Given the description of an element on the screen output the (x, y) to click on. 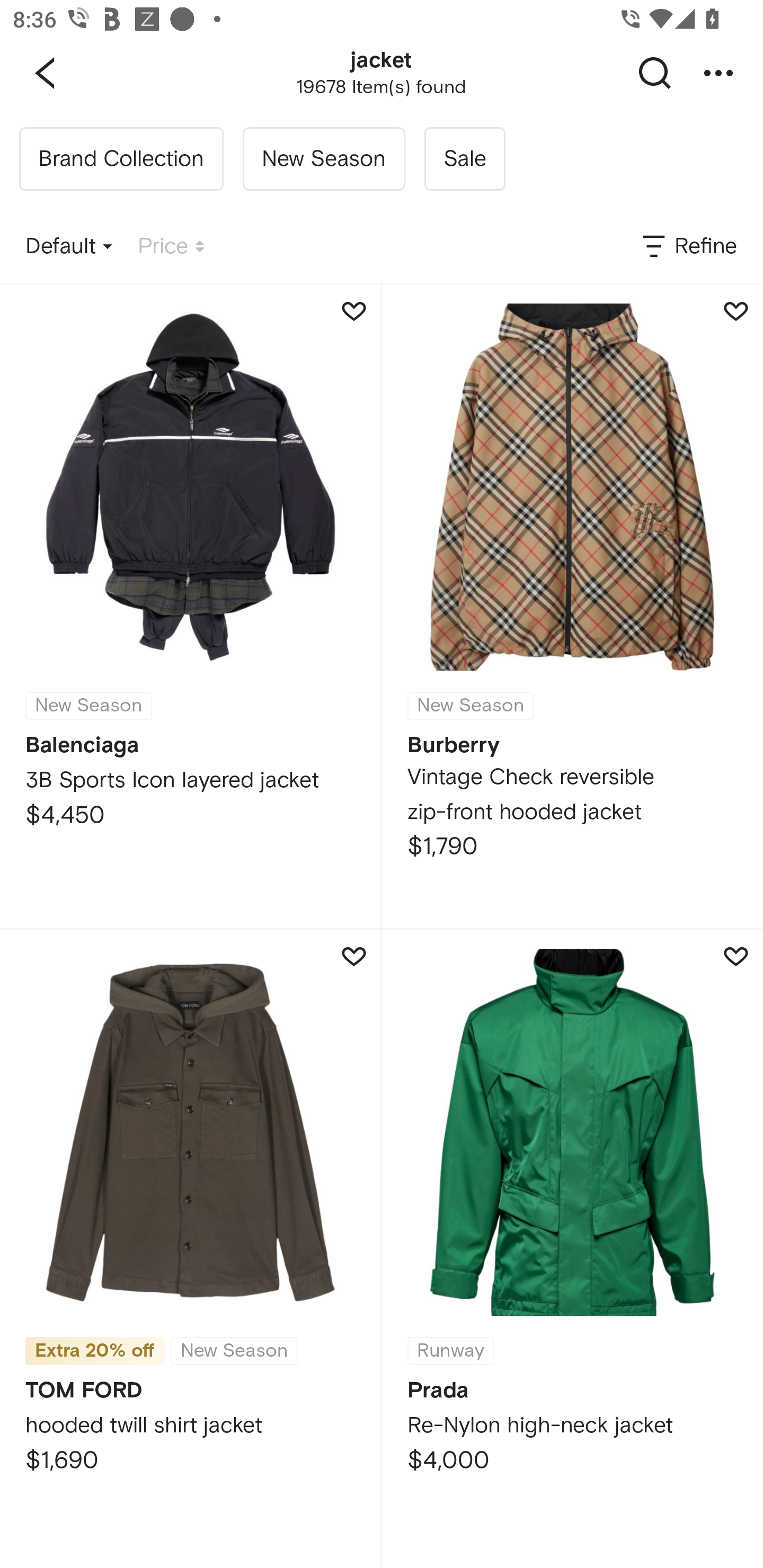
Brand Collection (121, 158)
New Season (323, 158)
Sale (464, 158)
Default (68, 246)
Price (171, 246)
Refine (688, 246)
Runway Prada Re-Nylon high-neck jacket $4,000 (572, 1248)
Extra 20% off (94, 1351)
